Given the description of an element on the screen output the (x, y) to click on. 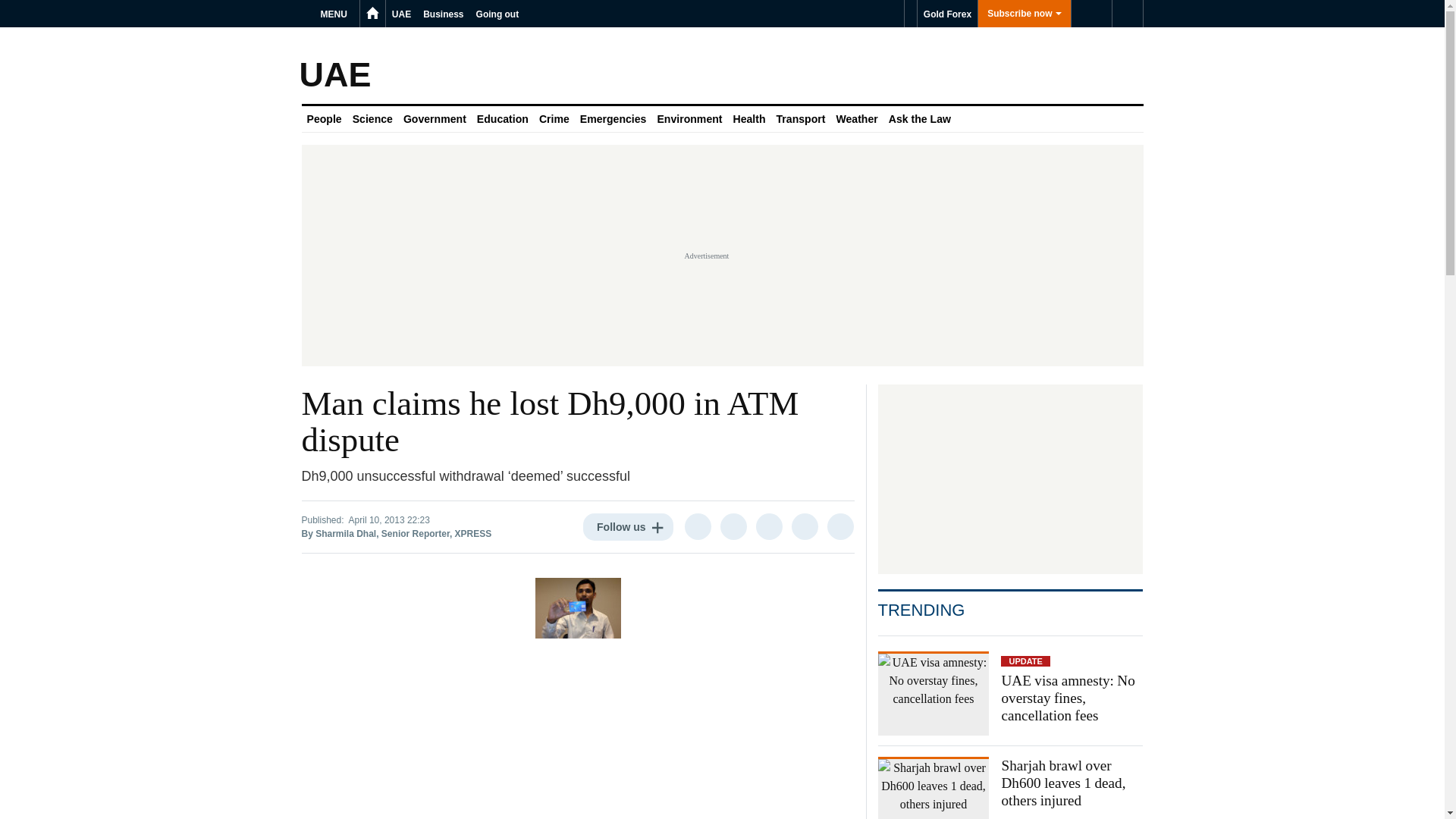
Gold Forex (946, 13)
UAE (400, 13)
Subscribe now (1024, 13)
Going out (497, 13)
MENU (336, 13)
Business (442, 13)
